Given the description of an element on the screen output the (x, y) to click on. 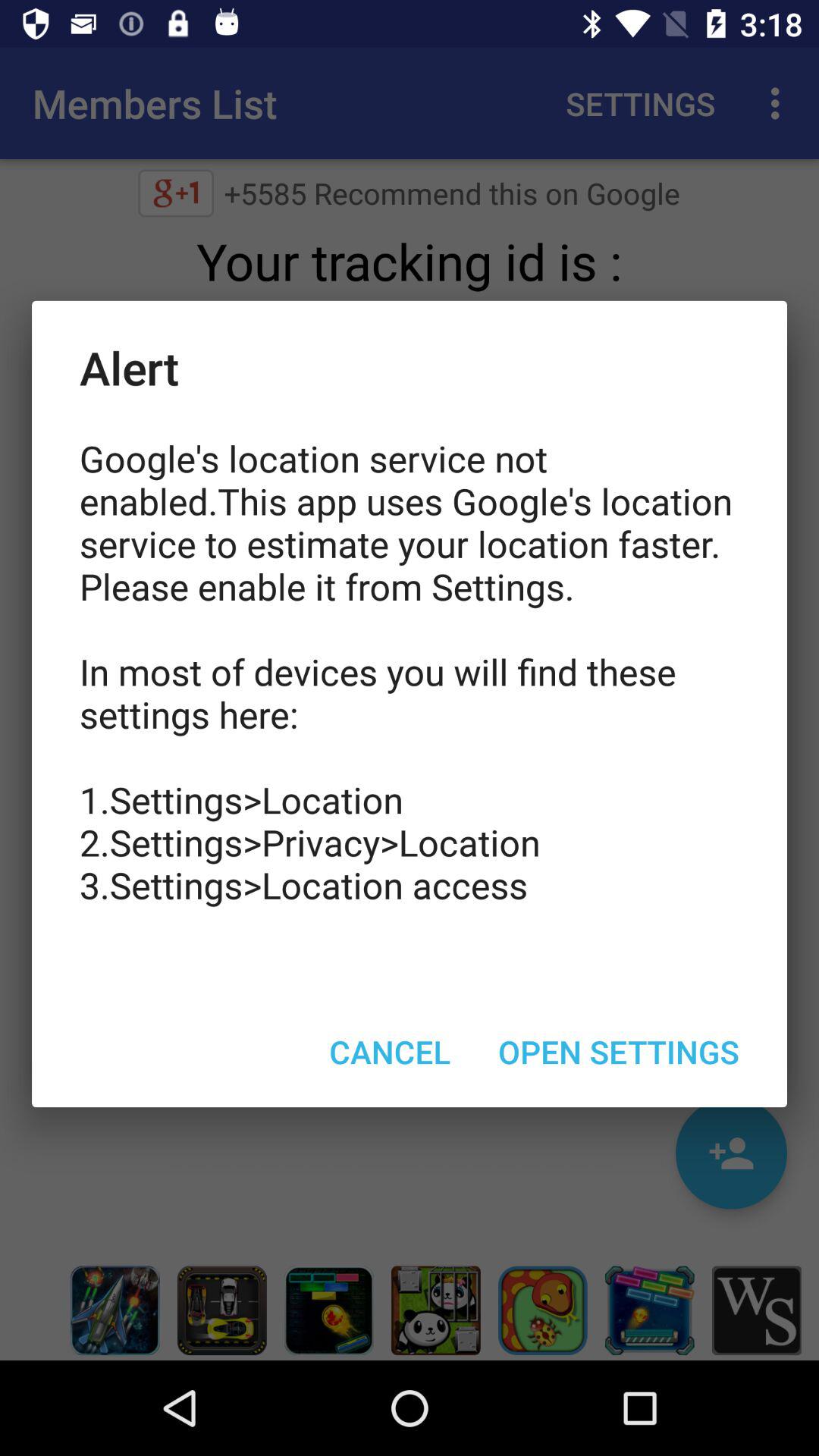
choose the item at the bottom right corner (618, 1051)
